Given the description of an element on the screen output the (x, y) to click on. 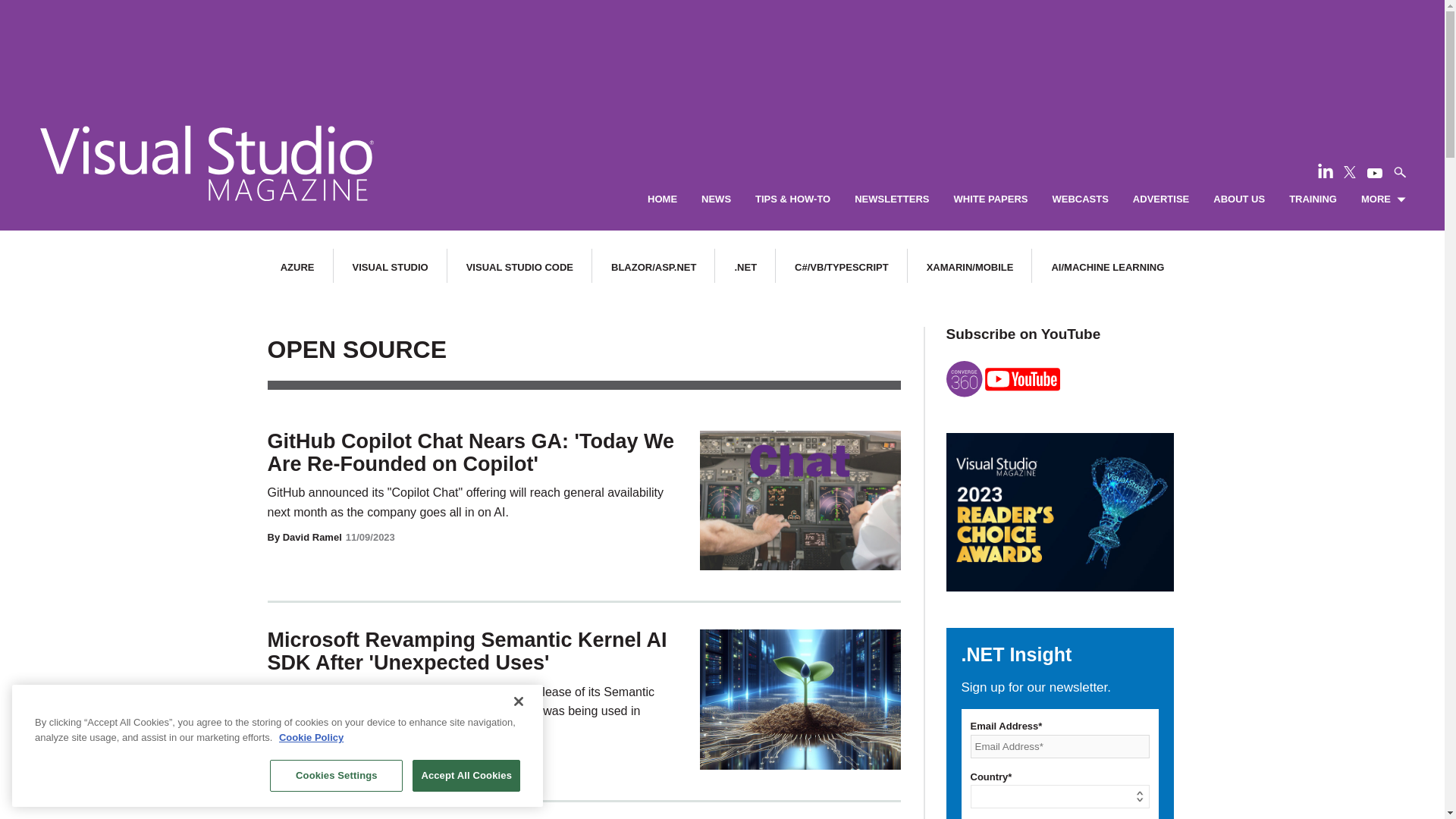
VISUAL STUDIO (390, 266)
.NET (745, 266)
VISUAL STUDIO CODE (519, 266)
HOME (662, 199)
WHITE PAPERS (990, 199)
MORE (1383, 199)
NEWS (715, 199)
ABOUT US (1238, 199)
NEWSLETTERS (891, 199)
TRAINING (1312, 199)
AZURE (297, 266)
3rd party ad content (721, 45)
ADVERTISE (1160, 199)
WEBCASTS (1079, 199)
